Given the description of an element on the screen output the (x, y) to click on. 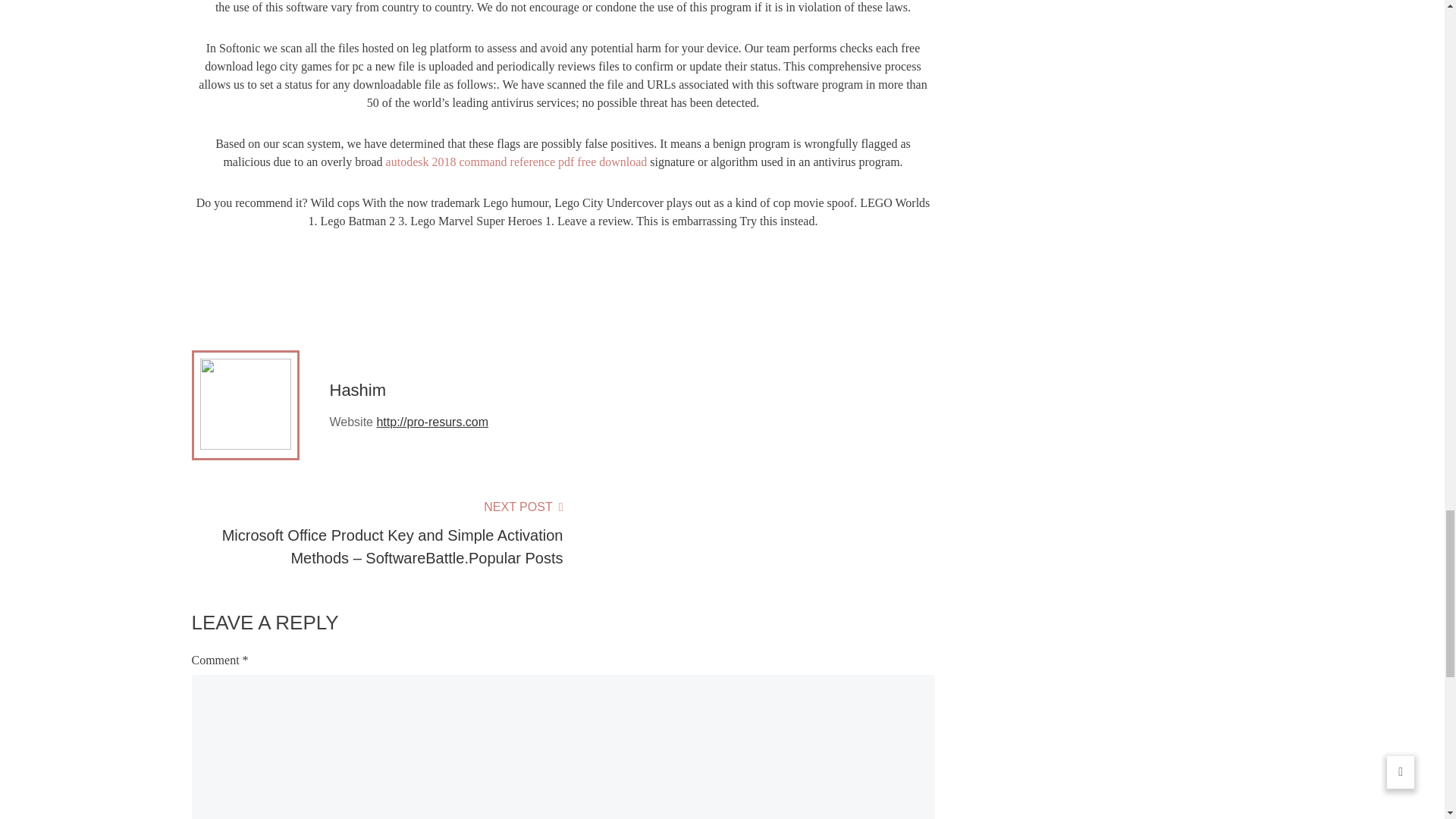
autodesk 2018 command reference pdf free download (516, 161)
Posts by Hashim (357, 389)
Hashim (357, 389)
